Given the description of an element on the screen output the (x, y) to click on. 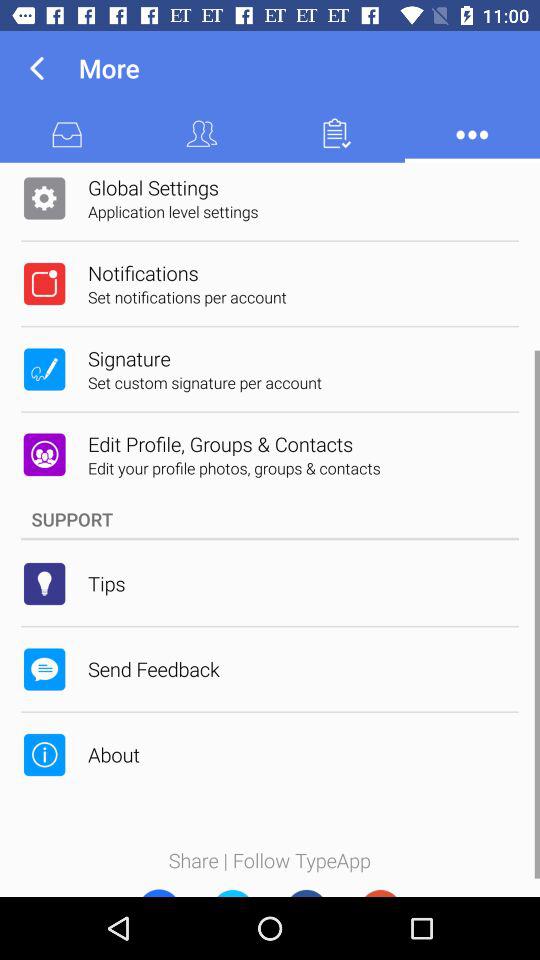
turn on the about app (113, 754)
